Given the description of an element on the screen output the (x, y) to click on. 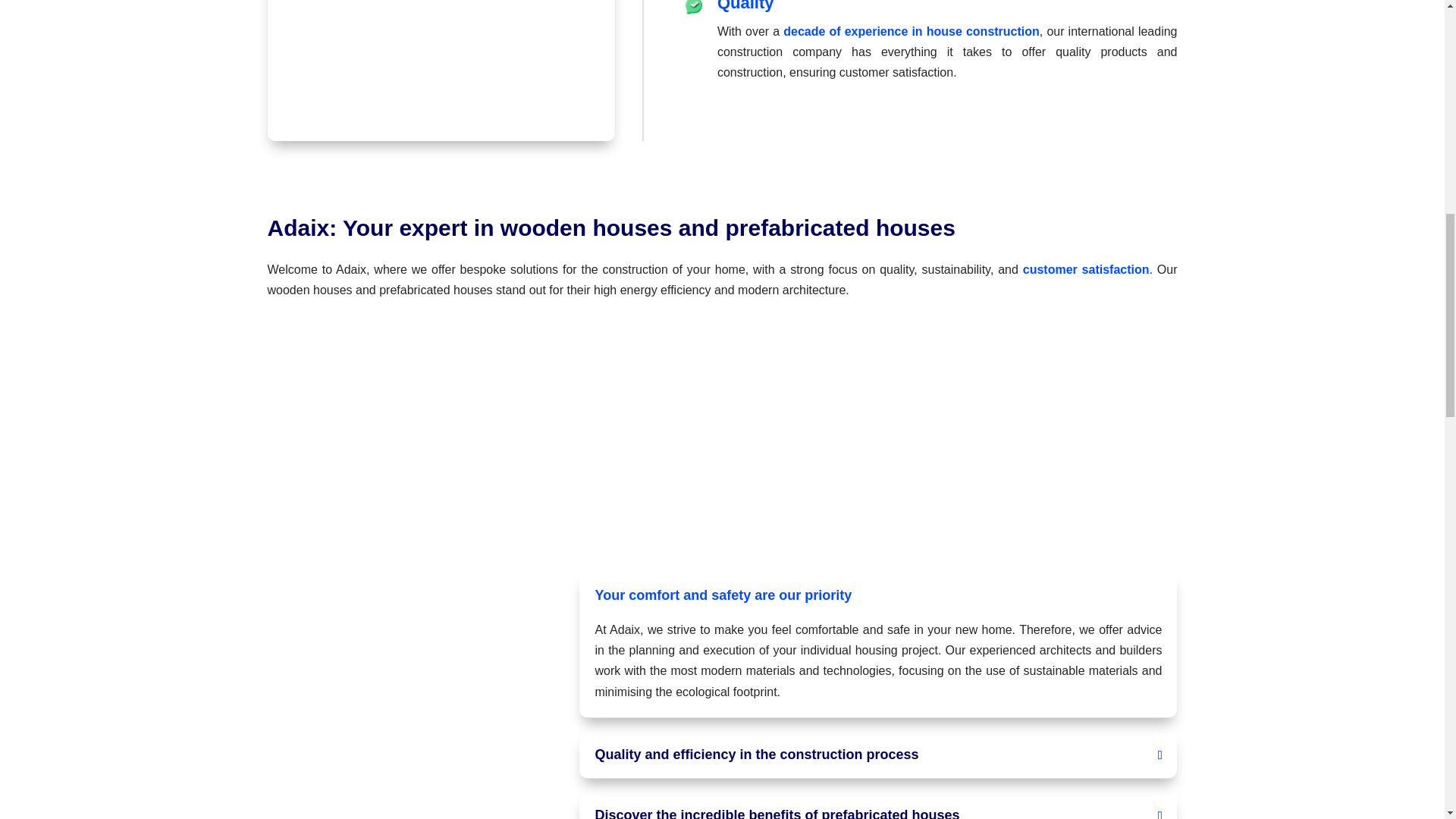
High-Quality Prefabricated Houses in Spain 3 (693, 7)
